Given the description of an element on the screen output the (x, y) to click on. 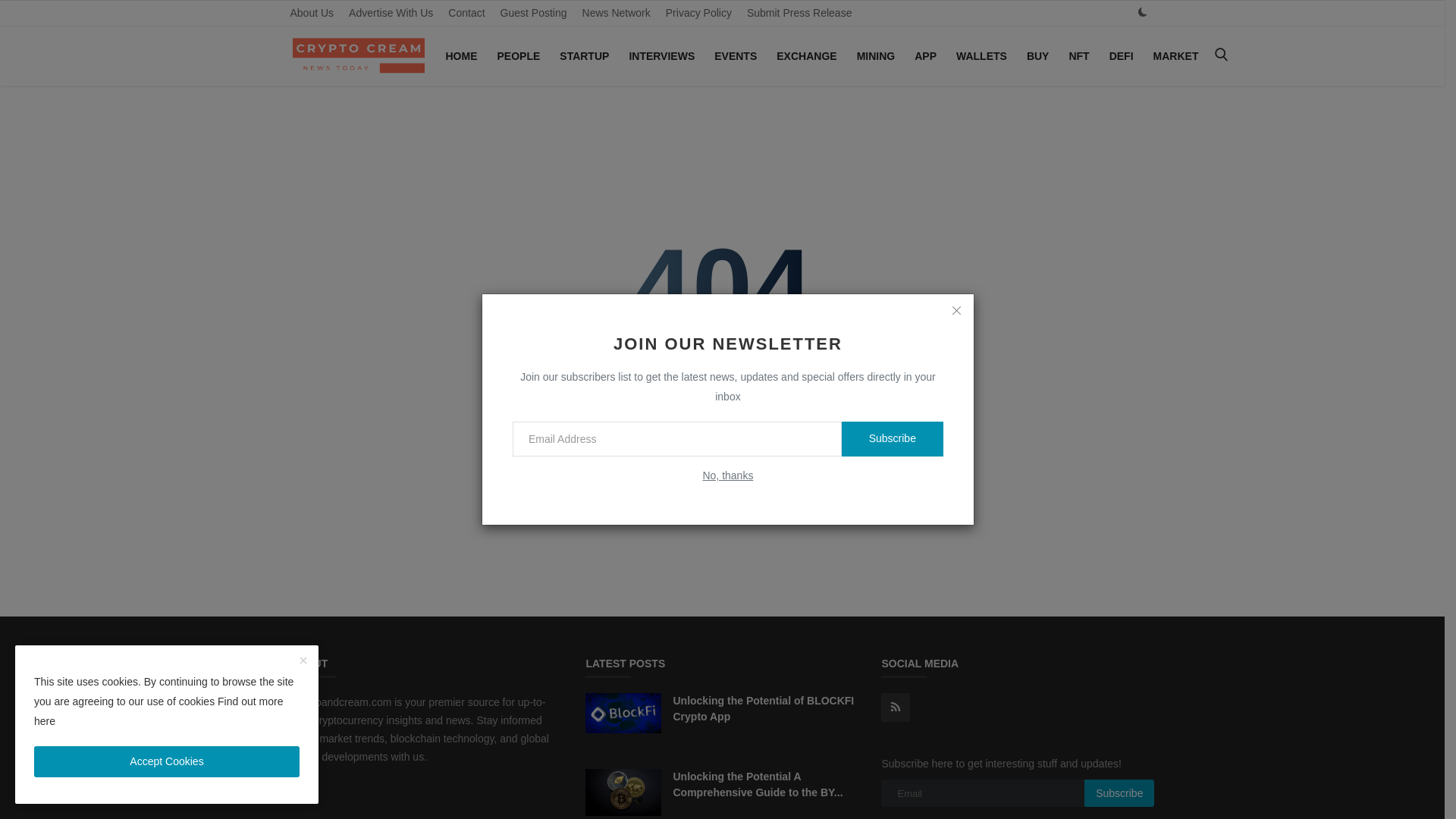
MARKET (1176, 55)
Advertise With Us (390, 13)
INTERVIEWS (661, 55)
MINING (875, 55)
Guest Posting (534, 13)
Contact (466, 13)
News Network (616, 13)
Submit Press Release (799, 13)
dark (1141, 12)
WALLETS (981, 55)
EVENTS (735, 55)
PEOPLE (518, 55)
STARTUP (583, 55)
About Us (311, 13)
Privacy Policy (698, 13)
